Given the description of an element on the screen output the (x, y) to click on. 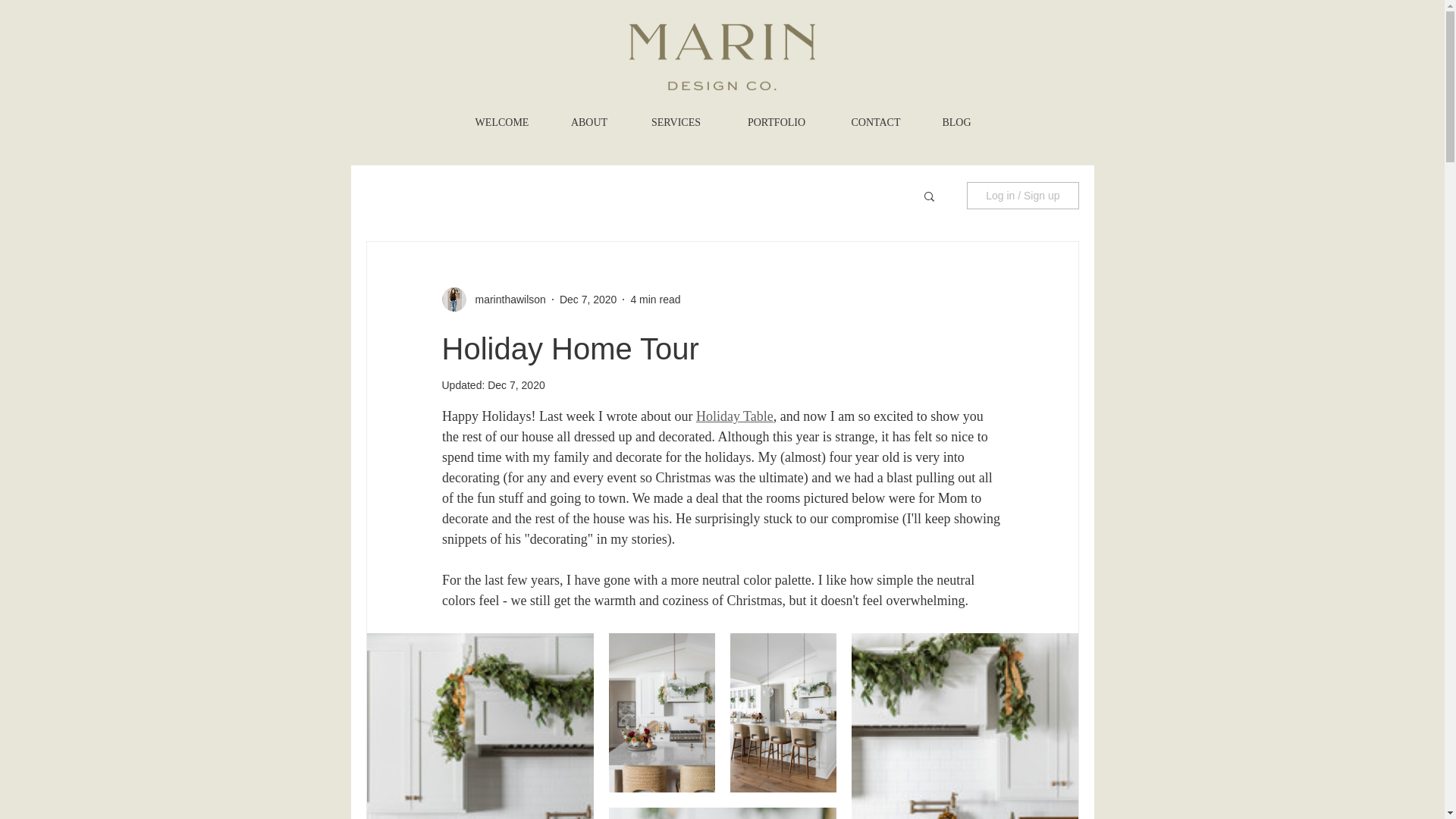
ABOUT (589, 122)
PORTFOLIO (775, 122)
BLOG (955, 122)
SERVICES (675, 122)
Dec 7, 2020 (588, 298)
marinthawilson (504, 299)
Holiday Table (734, 416)
CONTACT (876, 122)
4 min read (654, 298)
WELCOME (501, 122)
Dec 7, 2020 (515, 385)
